Given the description of an element on the screen output the (x, y) to click on. 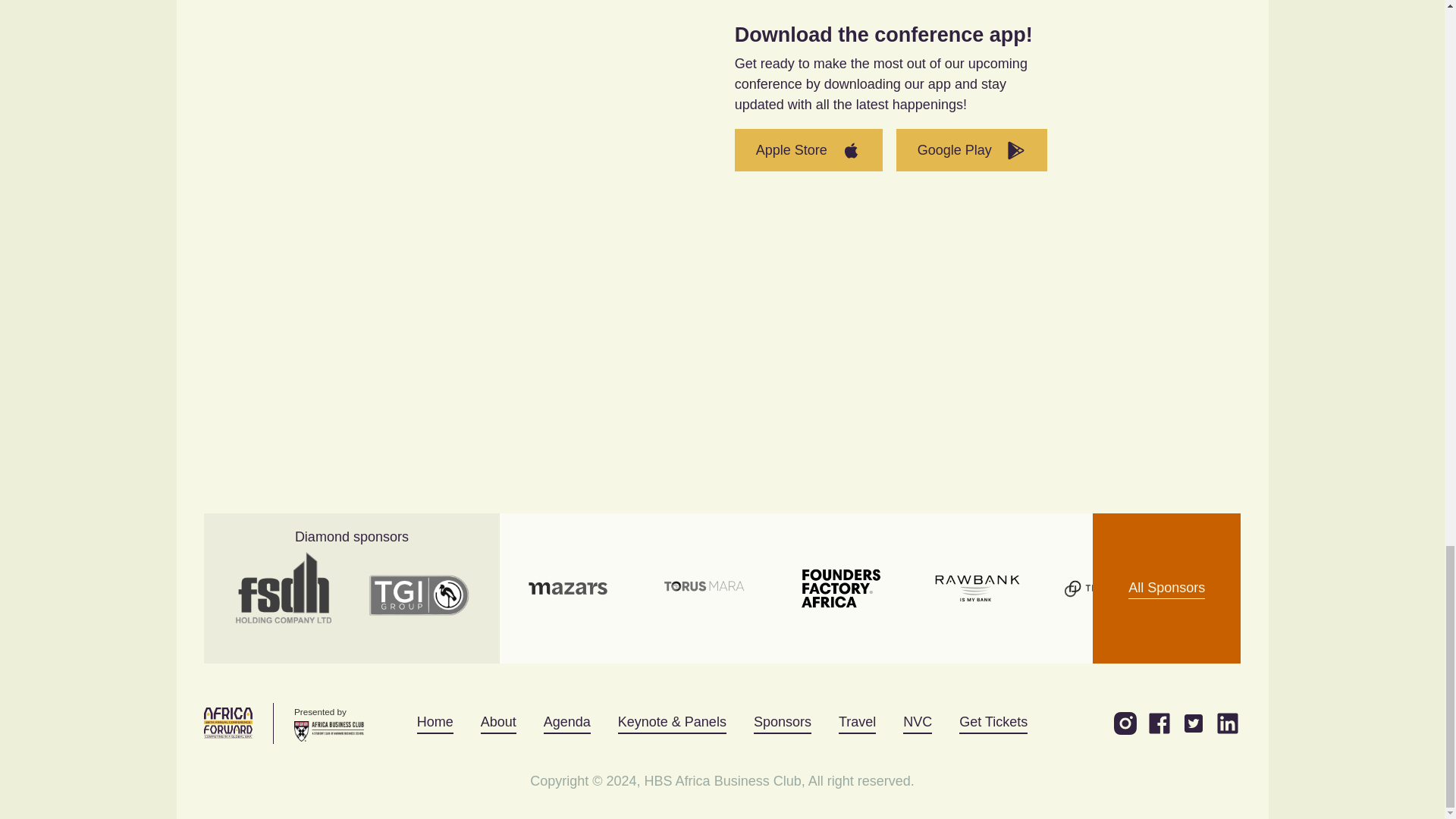
All Sponsors (1166, 588)
About (498, 722)
Agenda (567, 722)
Presented by (329, 723)
Apple Store (808, 149)
Google Play (971, 149)
Home (434, 722)
